Given the description of an element on the screen output the (x, y) to click on. 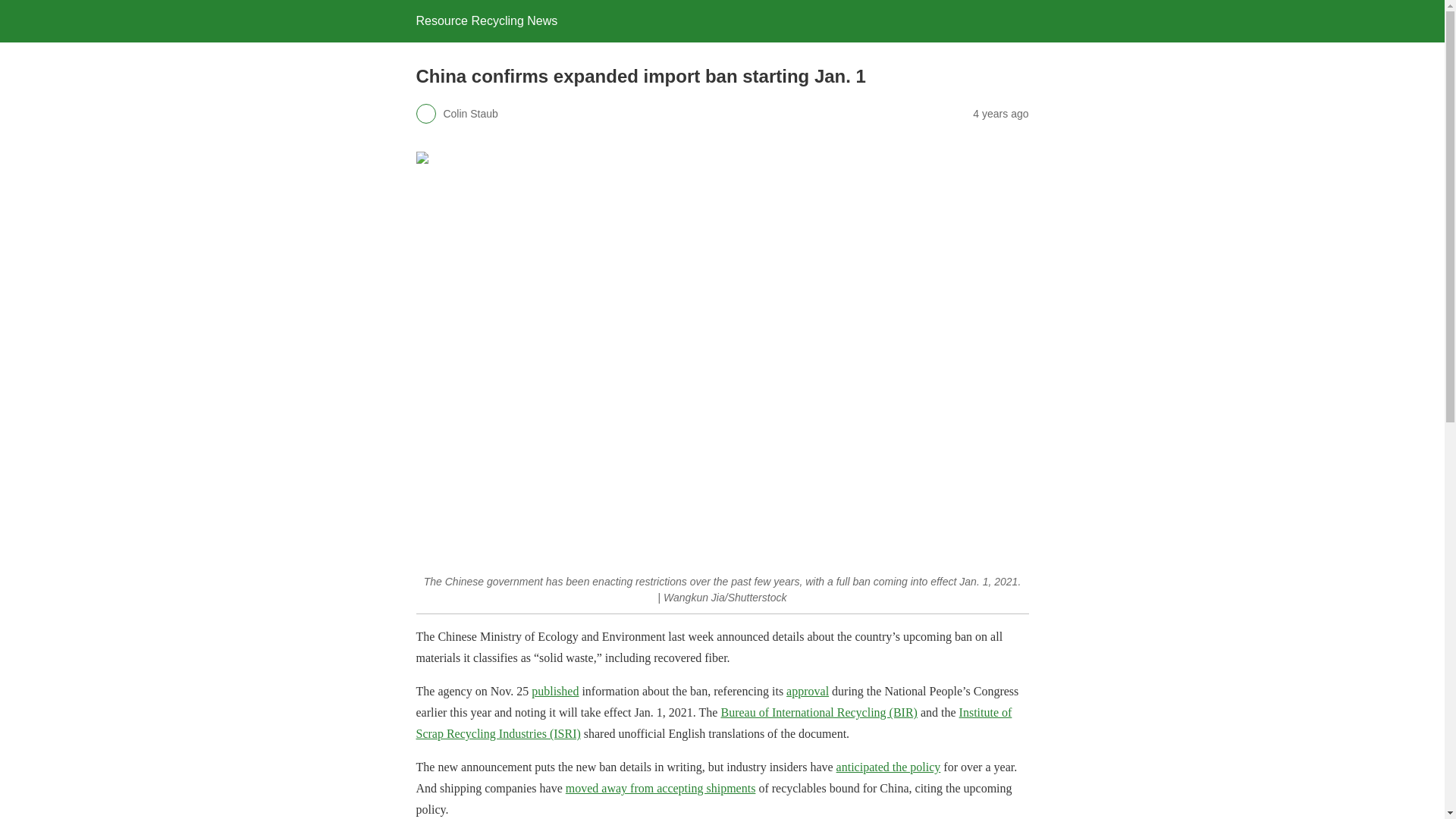
published (554, 690)
approval (807, 690)
moved away from accepting shipments (660, 788)
anticipated the policy (887, 766)
Resource Recycling News (485, 20)
